Given the description of an element on the screen output the (x, y) to click on. 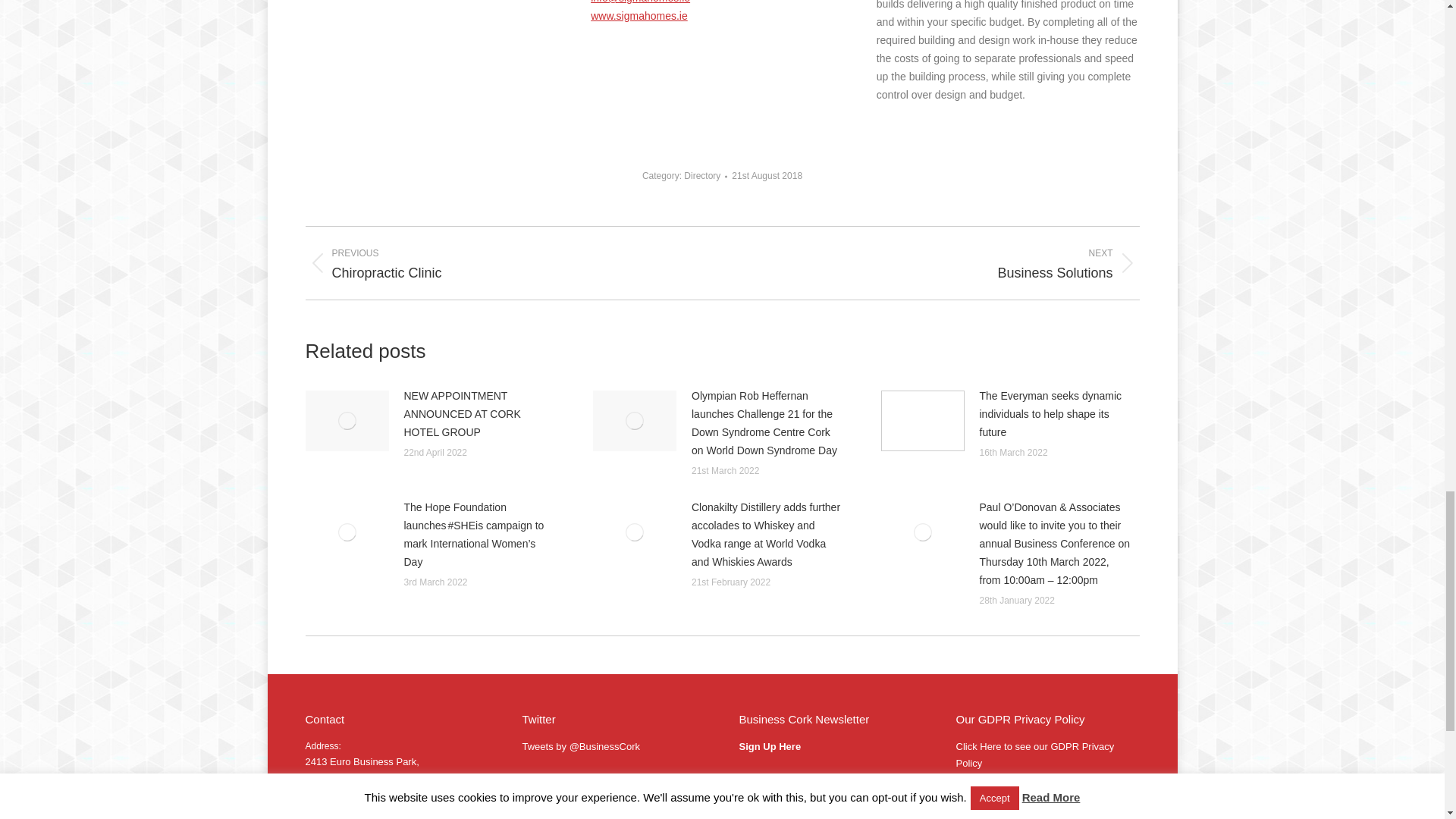
11:57 am (767, 176)
